Given the description of an element on the screen output the (x, y) to click on. 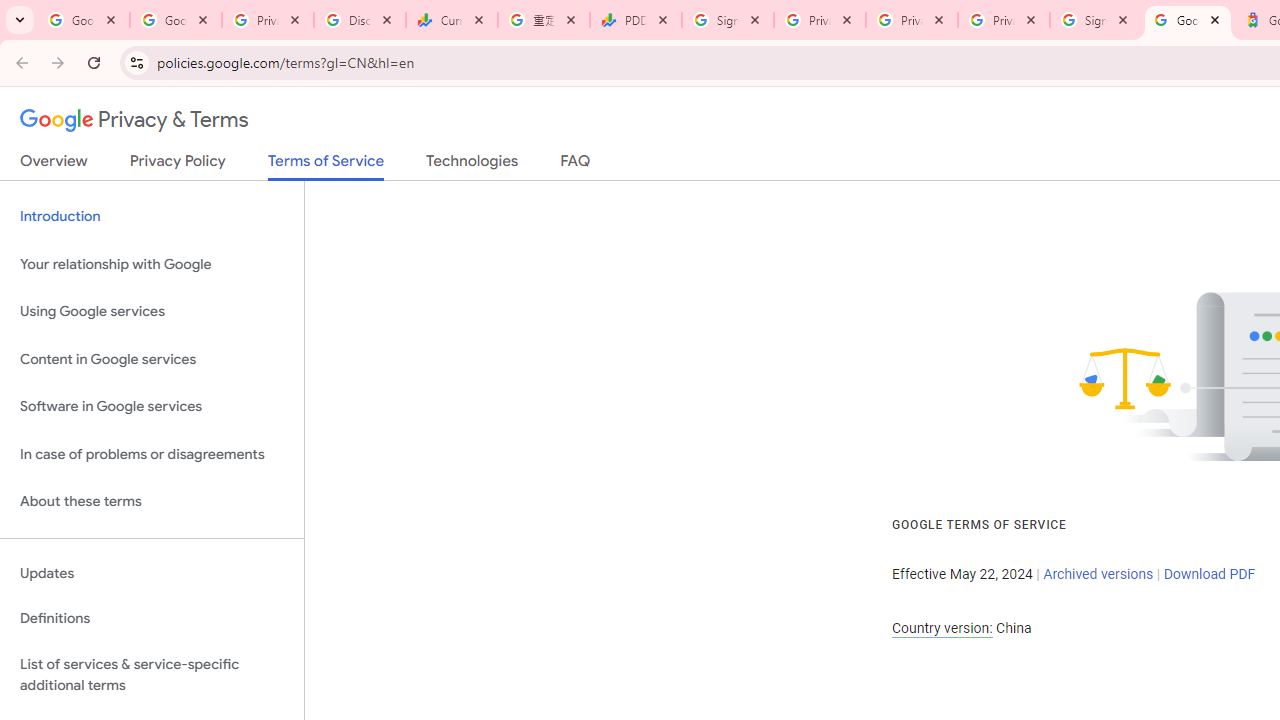
Privacy Checkup (911, 20)
Updates (152, 573)
Sign in - Google Accounts (728, 20)
Currencies - Google Finance (451, 20)
Download PDF (1209, 574)
